Given the description of an element on the screen output the (x, y) to click on. 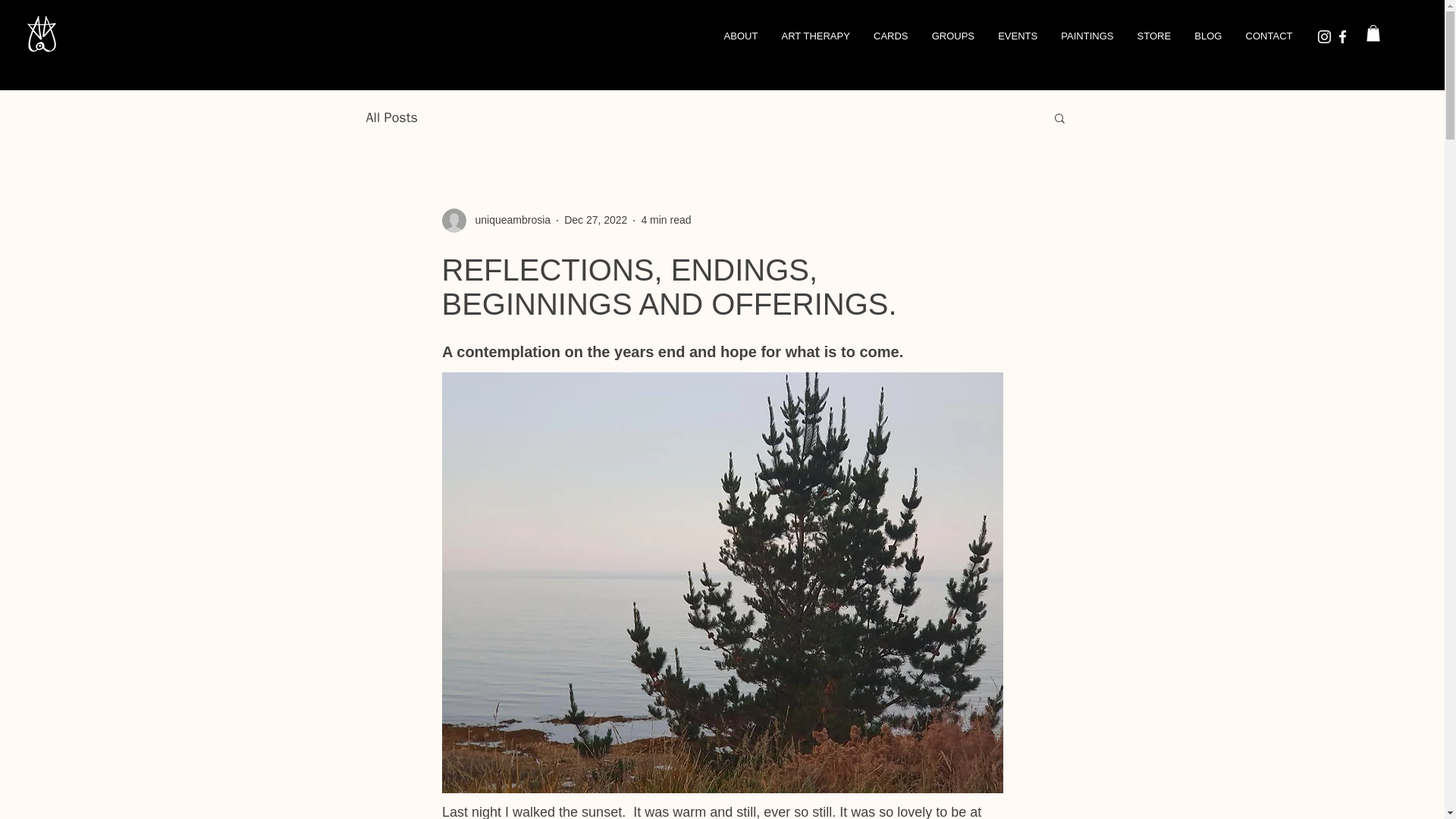
STORE (1153, 35)
uniqueambrosia (495, 219)
Dec 27, 2022 (595, 219)
4 min read (665, 219)
uniqueambrosia (507, 220)
All Posts (390, 116)
EVENTS (1018, 35)
CONTACT (1268, 35)
BLOG (1207, 35)
